Given the description of an element on the screen output the (x, y) to click on. 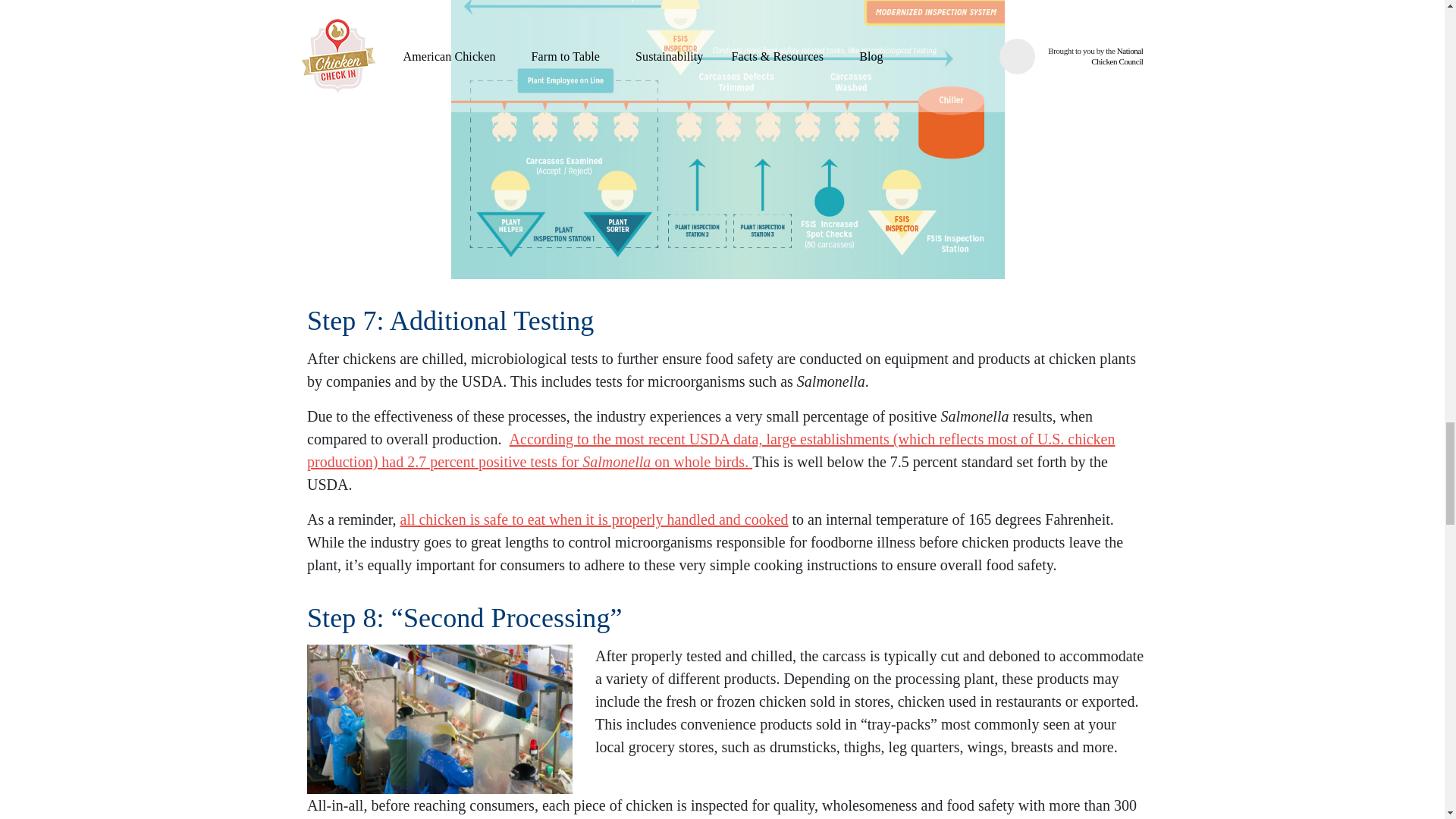
NCC Safety Still 27 (439, 718)
